Given the description of an element on the screen output the (x, y) to click on. 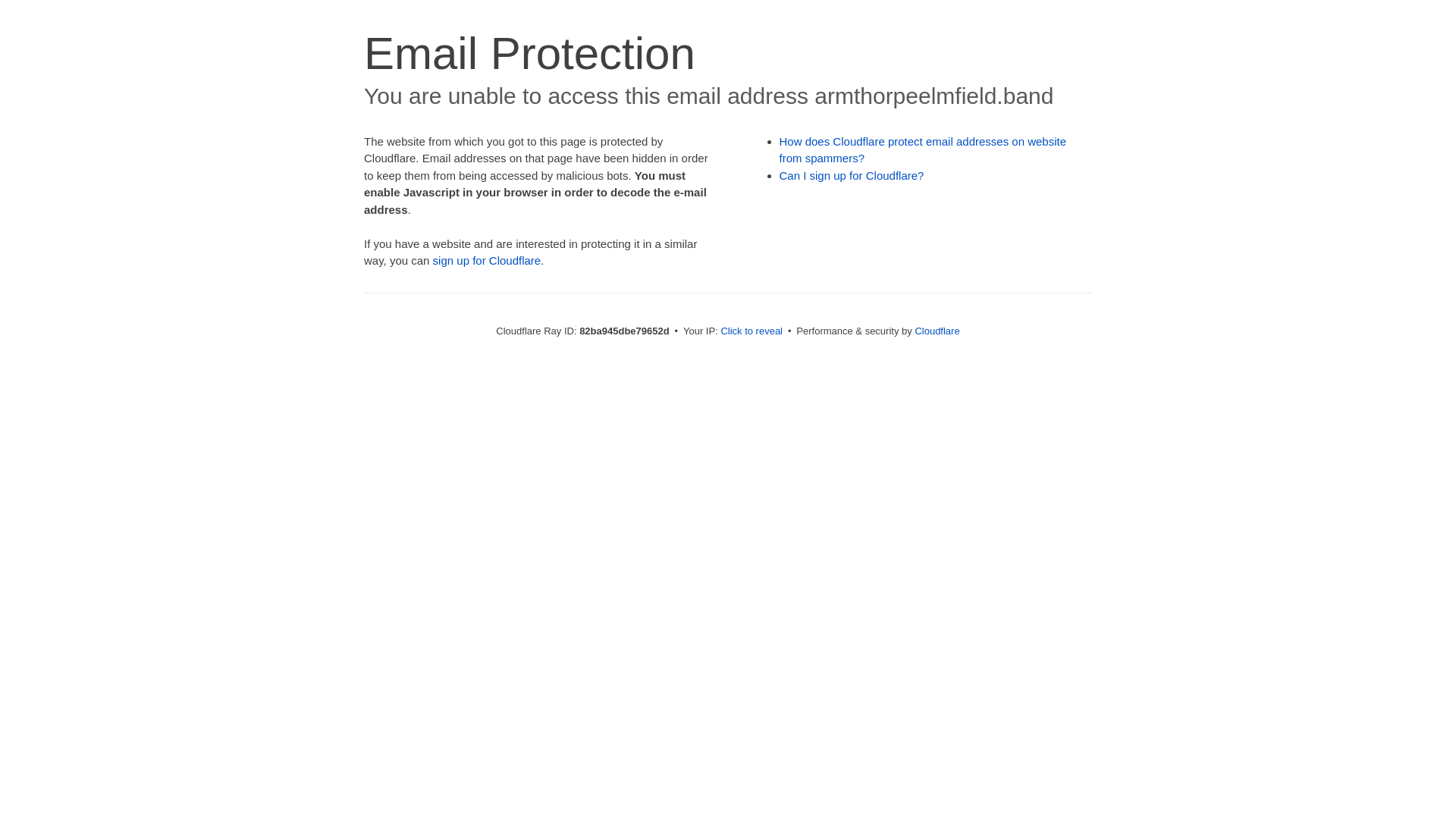
Cloudflare Element type: text (936, 330)
Can I sign up for Cloudflare? Element type: text (851, 175)
Click to reveal Element type: text (751, 330)
sign up for Cloudflare Element type: text (487, 260)
